Given the description of an element on the screen output the (x, y) to click on. 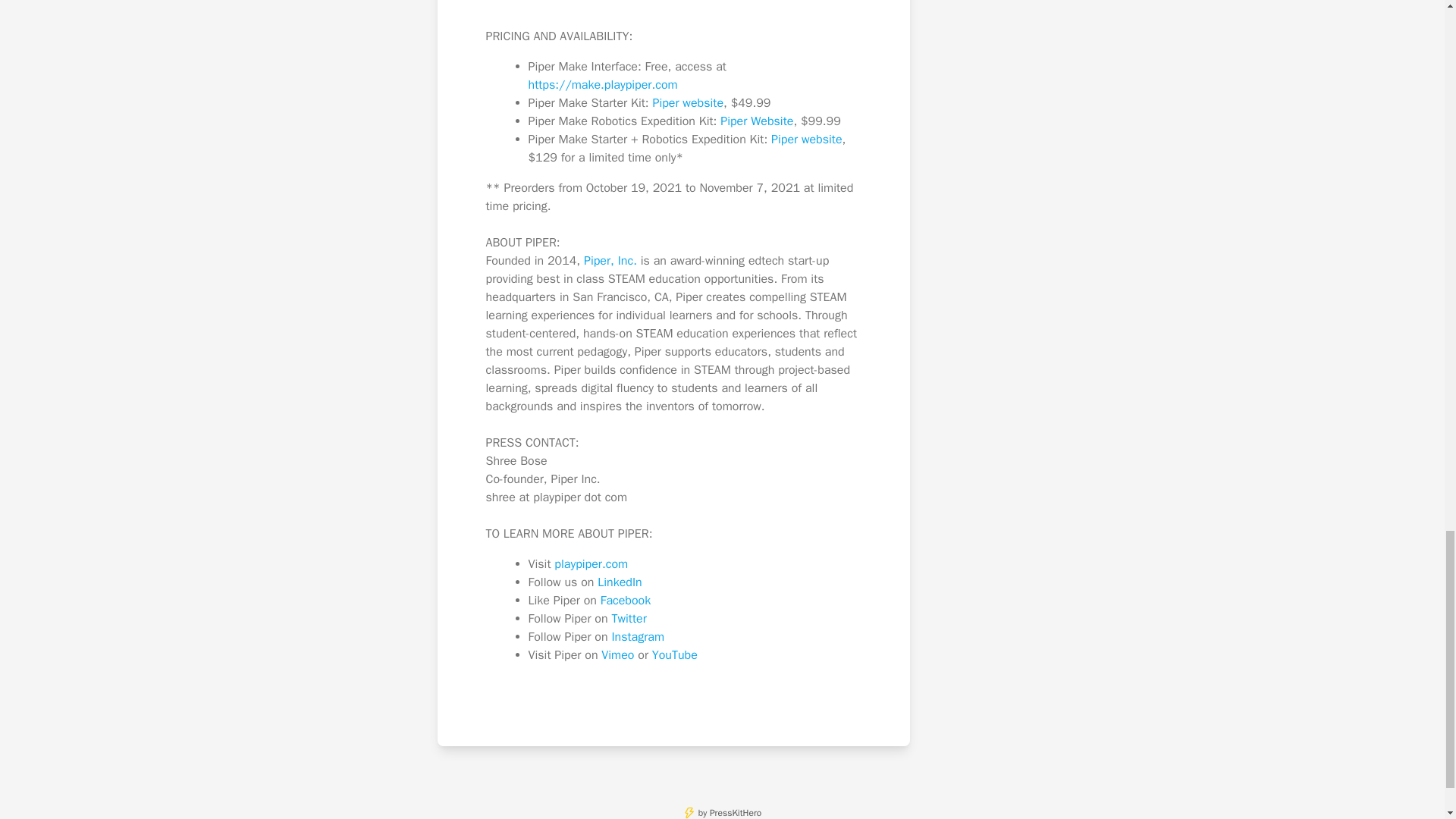
Piper, Inc. (610, 260)
Facebook (624, 600)
LinkedIn (619, 581)
Piper website (687, 102)
Twitter (628, 618)
Piper website (807, 139)
Piper Website (756, 120)
playpiper.com (590, 563)
